Given the description of an element on the screen output the (x, y) to click on. 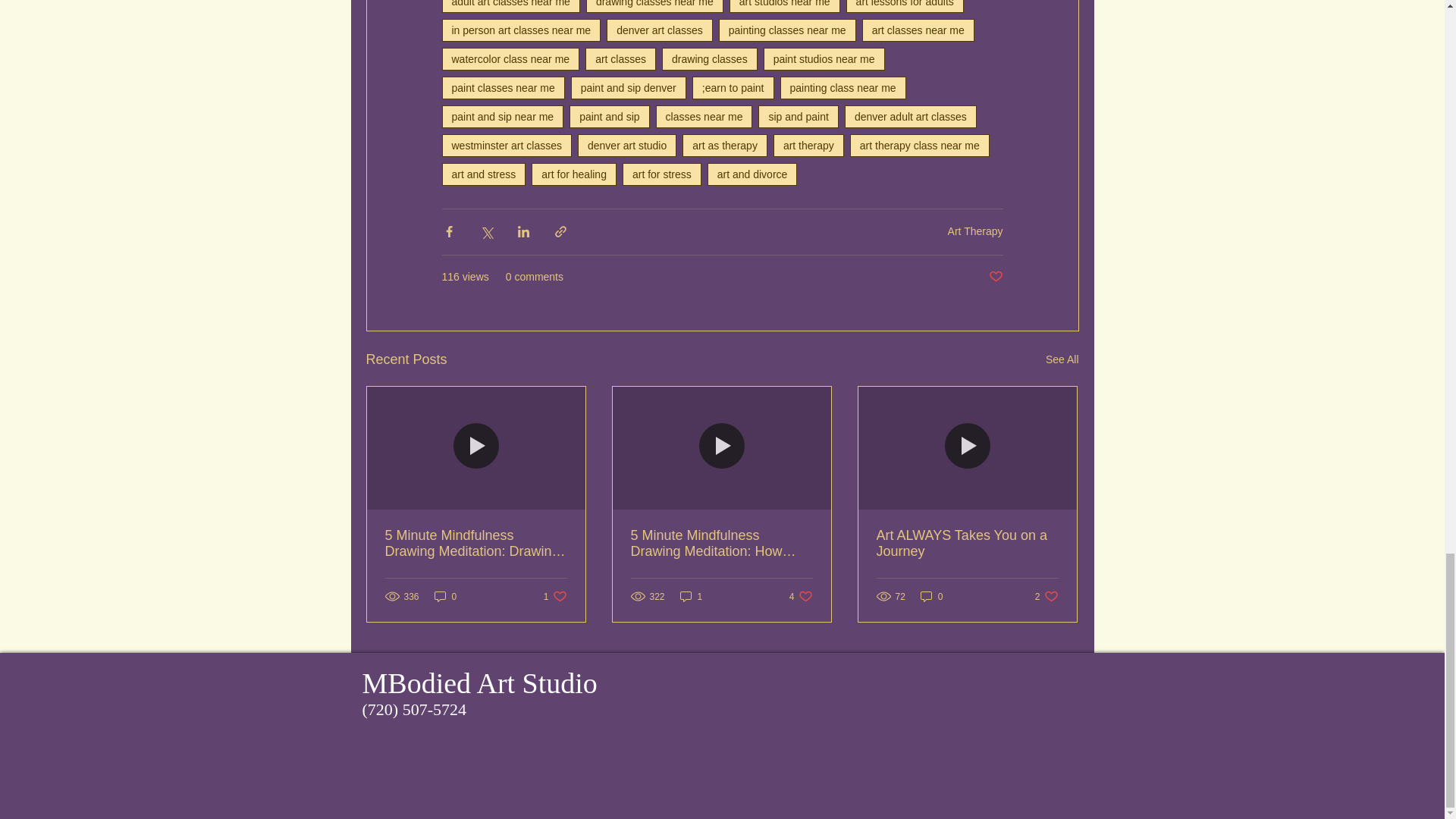
art classes (620, 58)
art studios near me (784, 6)
painting classes near me (787, 29)
paint studios near me (823, 58)
adult art classes near me (510, 6)
drawing classes (709, 58)
watercolor class near me (510, 58)
art classes near me (917, 29)
art lessons for adults (904, 6)
drawing classes near me (654, 6)
